Given the description of an element on the screen output the (x, y) to click on. 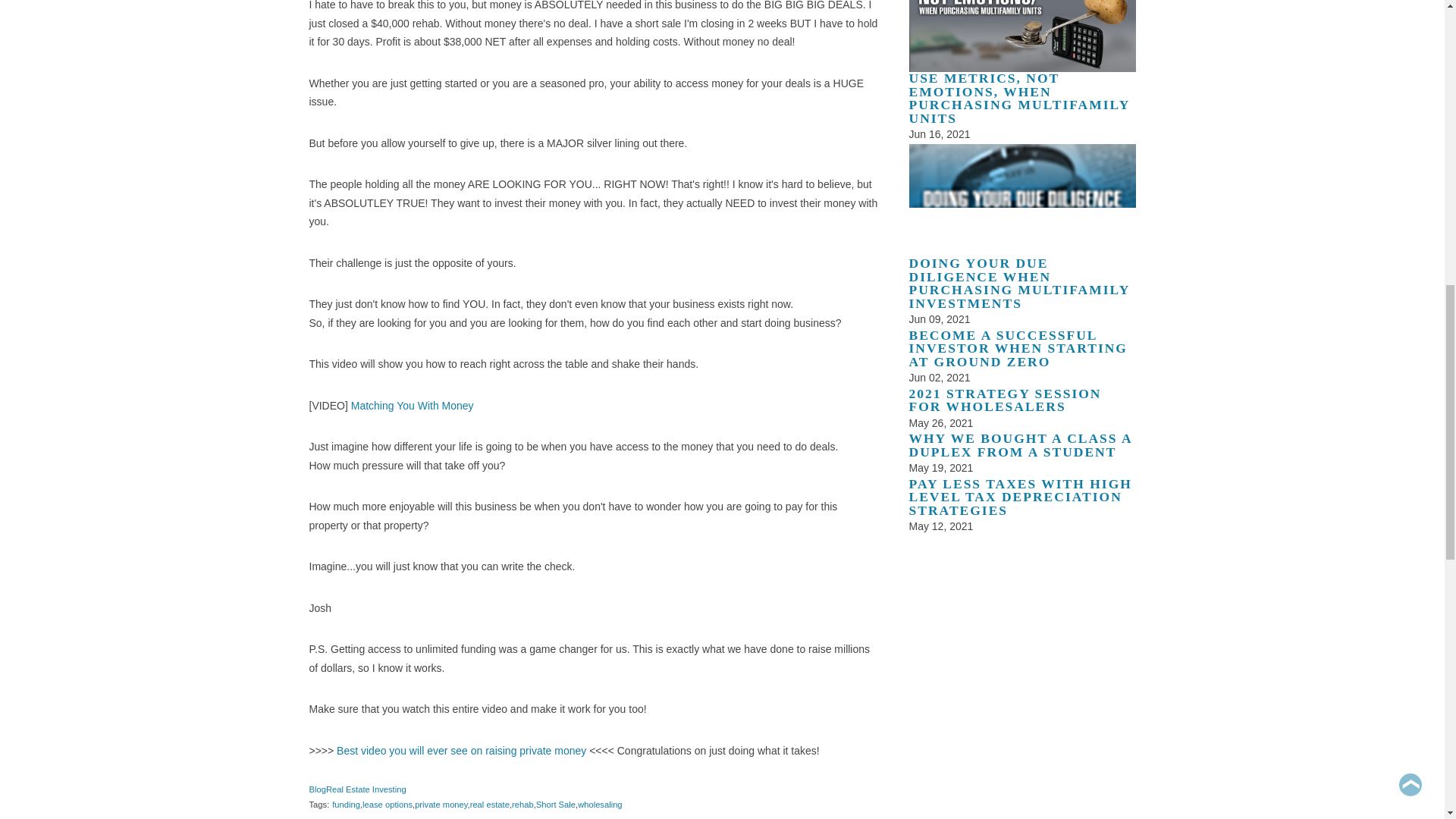
wholesaling (599, 804)
Matching You With Money (412, 404)
rehab (523, 804)
Short Sale (555, 804)
lease options (387, 804)
funding (345, 804)
private money (440, 804)
Blog (317, 788)
Real Estate Investing (366, 788)
real estate (489, 804)
Best video you will ever see on raising private money (461, 750)
